Given the description of an element on the screen output the (x, y) to click on. 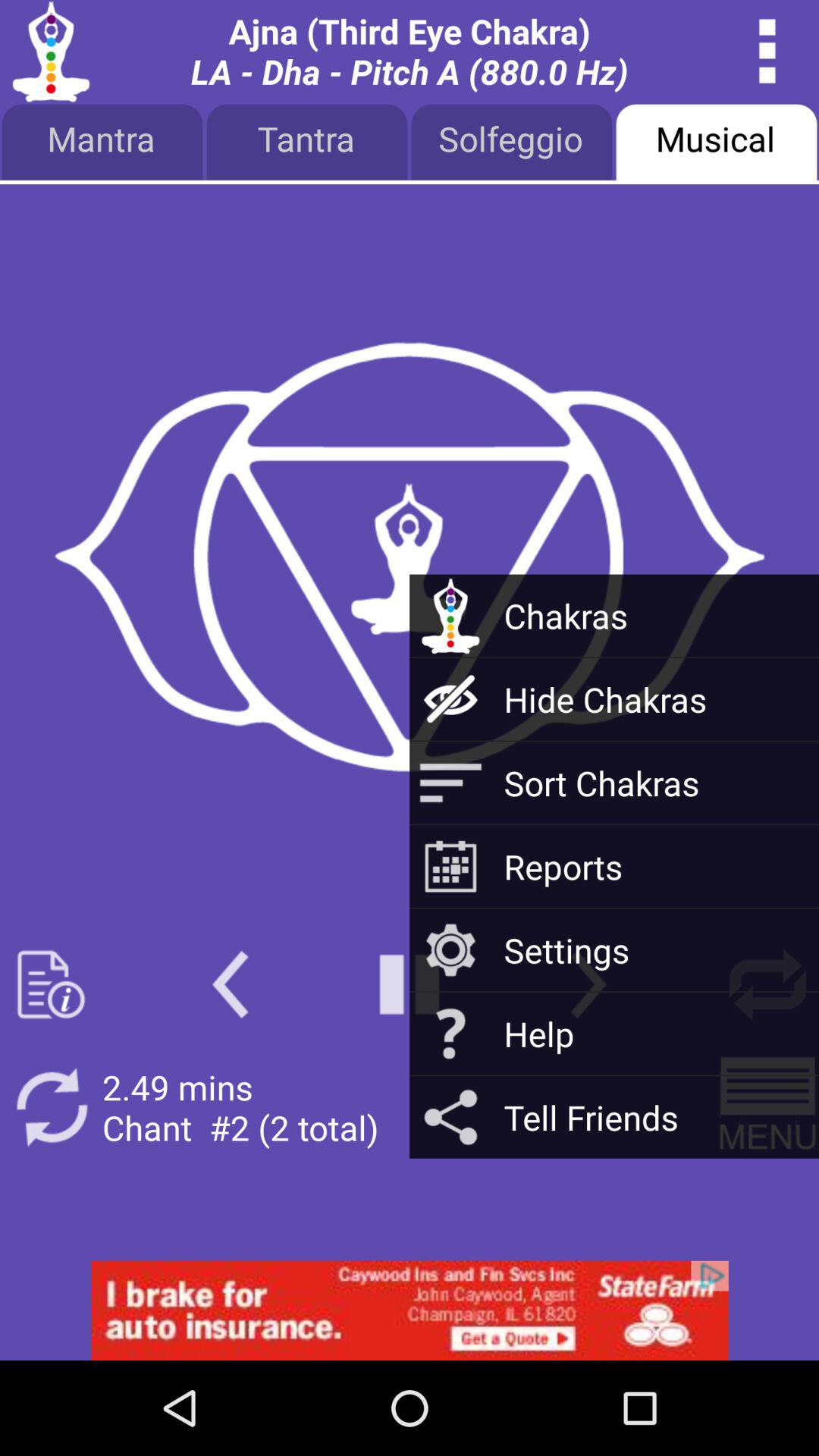
options button (767, 51)
